Given the description of an element on the screen output the (x, y) to click on. 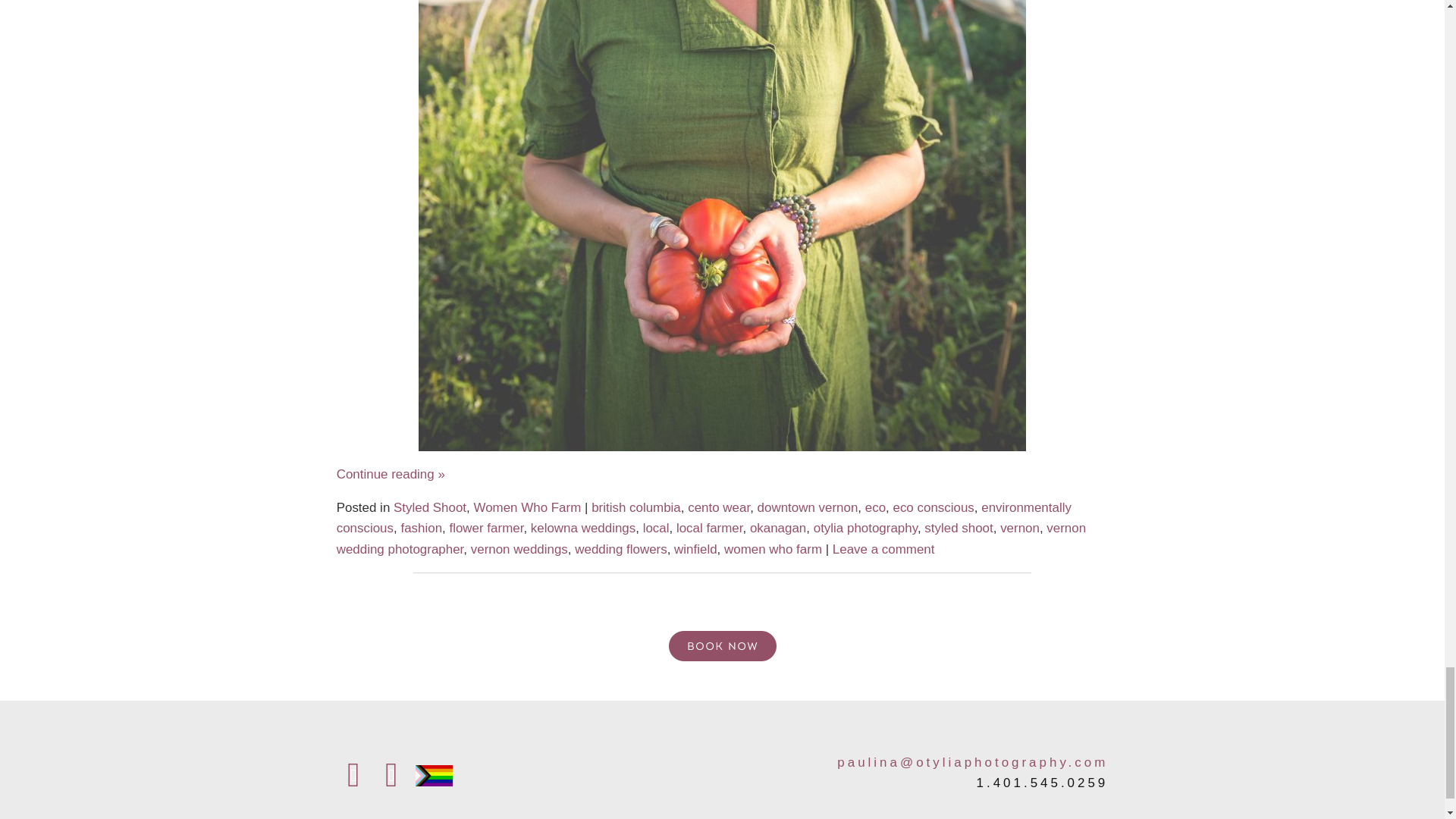
otylia photography (865, 527)
environmentally conscious (703, 517)
okanagan (777, 527)
kelowna weddings (582, 527)
Women Who Farm (526, 507)
local (656, 527)
downtown vernon (808, 507)
flower farmer (485, 527)
Styled Shoot (429, 507)
cento wear (718, 507)
british columbia (636, 507)
eco conscious (933, 507)
local farmer (709, 527)
eco (874, 507)
styled shoot (958, 527)
